Given the description of an element on the screen output the (x, y) to click on. 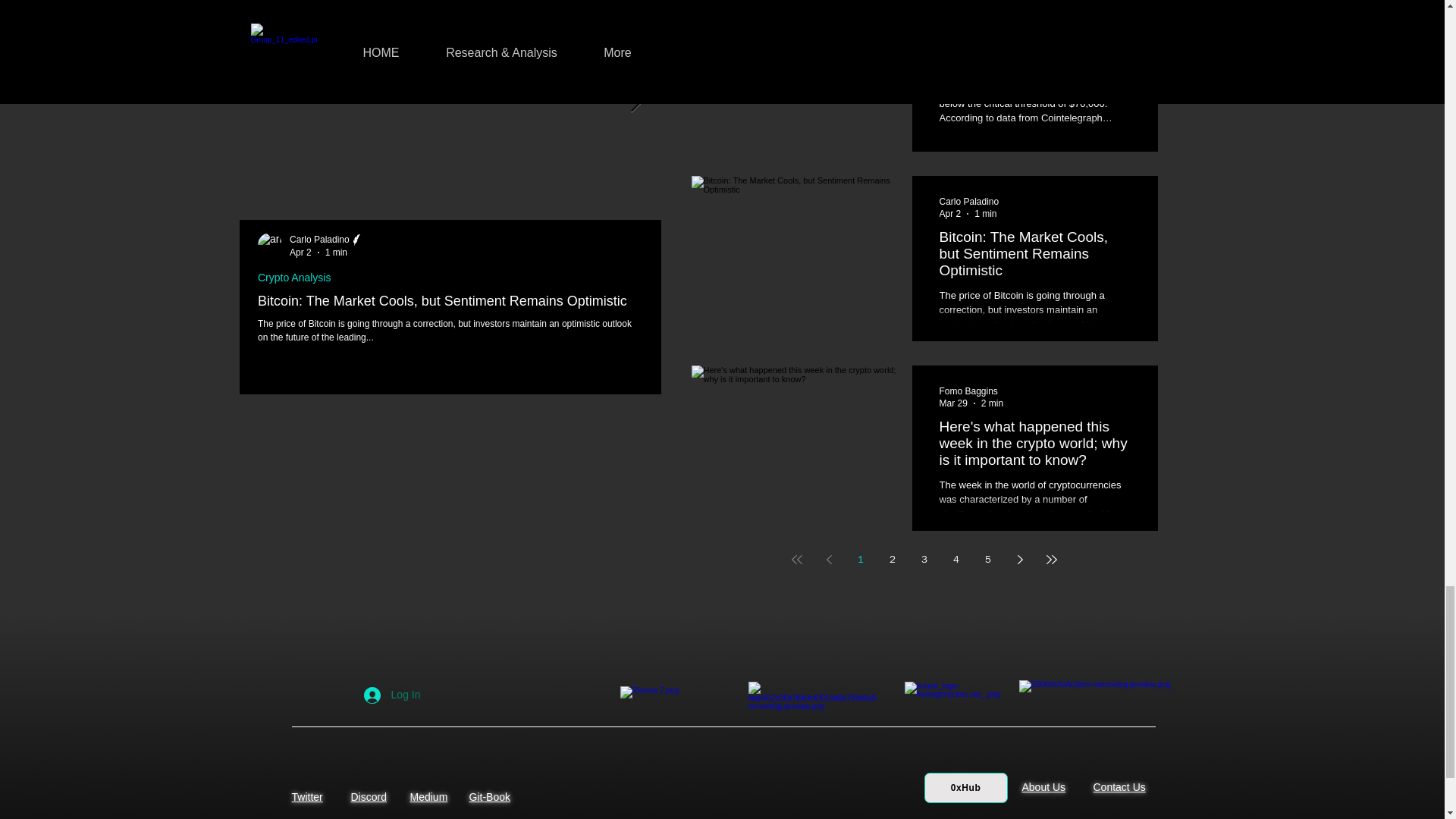
Apr 2 (300, 252)
Fomo Baggins (971, 391)
Apr 10 (952, 23)
Carlo Paladino (741, 239)
1 min (990, 23)
Apr 2 (949, 213)
5 (987, 559)
Carlo Paladino (326, 239)
Carlo Paladino (748, 239)
Bitcoin: The Market Cools, but Sentiment Remains Optimistic (450, 301)
1 min (984, 213)
2 min (763, 252)
Crypto Analysis (715, 277)
1 min (335, 252)
